Given the description of an element on the screen output the (x, y) to click on. 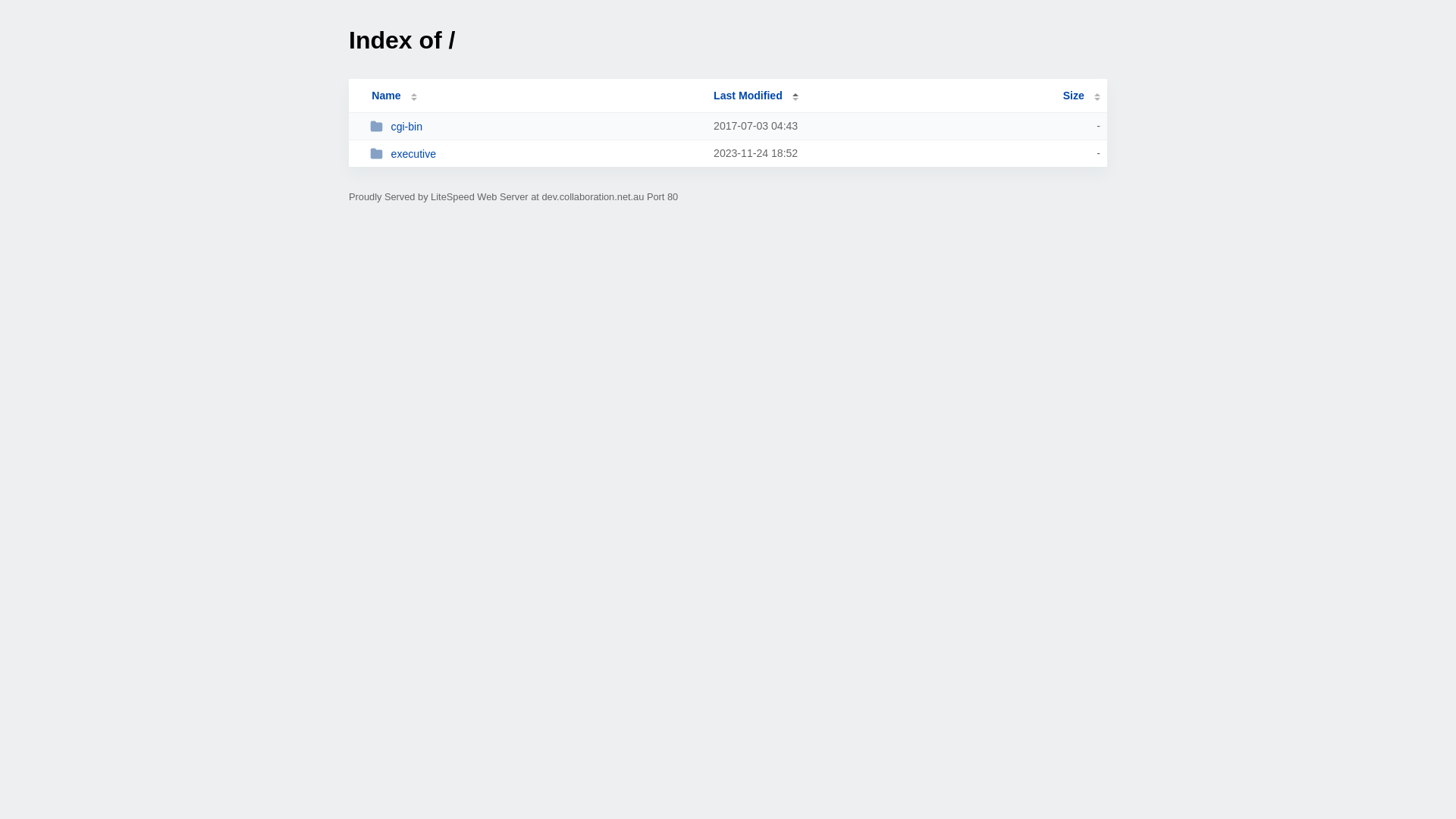
Name Element type: text (385, 95)
cgi-bin Element type: text (534, 125)
Size Element type: text (1081, 95)
executive Element type: text (534, 153)
Last Modified Element type: text (755, 95)
